Given the description of an element on the screen output the (x, y) to click on. 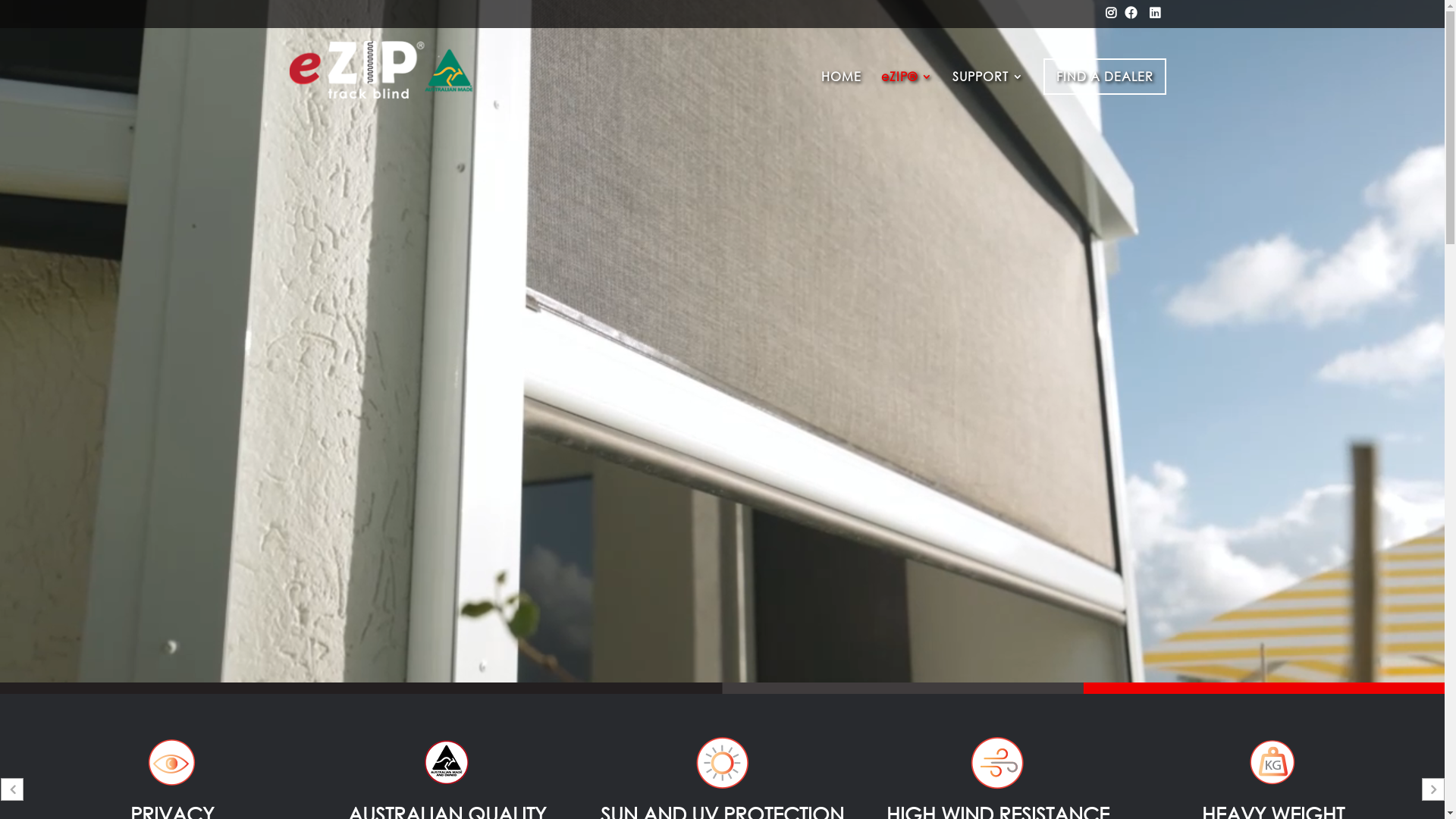
  Element type: text (1111, 17)
    Element type: text (1132, 17)
HOME Element type: text (840, 91)
FIND A DEALER Element type: text (1104, 76)
  Element type: text (1155, 17)
SUPPORT Element type: text (987, 91)
